Given the description of an element on the screen output the (x, y) to click on. 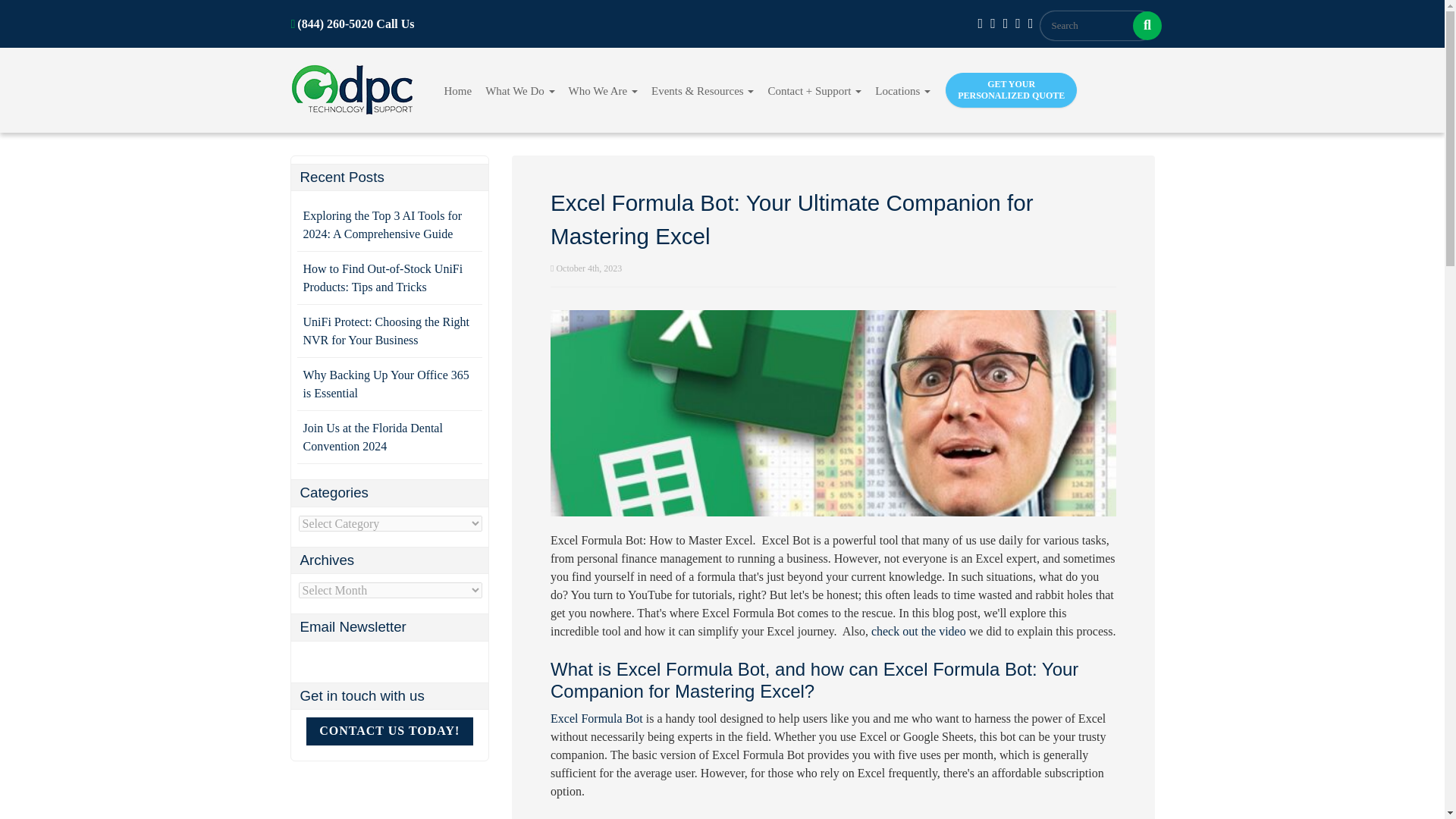
Opens a widget where you can chat to one of our agents (1387, 792)
